Given the description of an element on the screen output the (x, y) to click on. 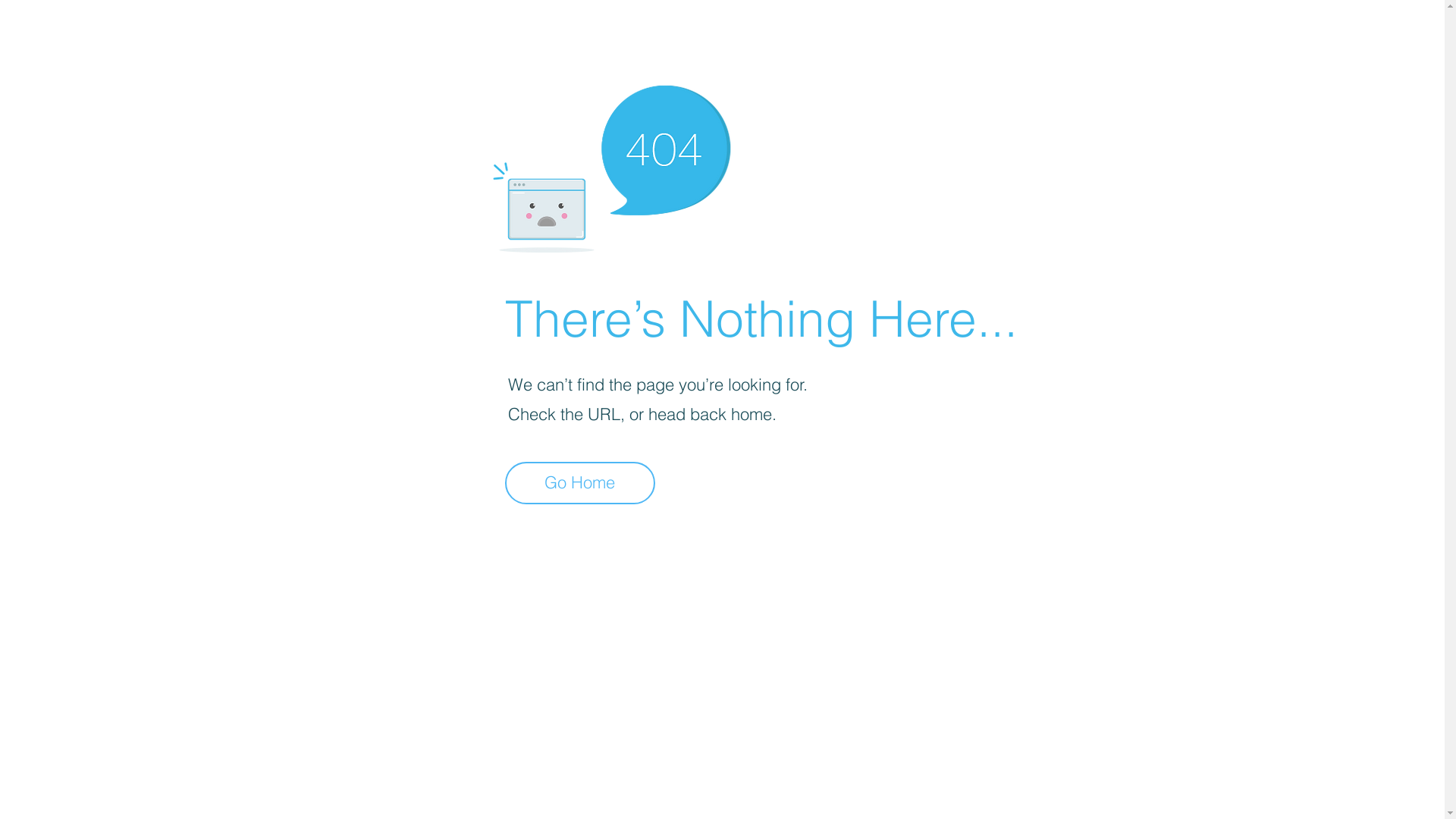
Go Home Element type: text (580, 482)
404-icon_2.png Element type: hover (610, 164)
